Given the description of an element on the screen output the (x, y) to click on. 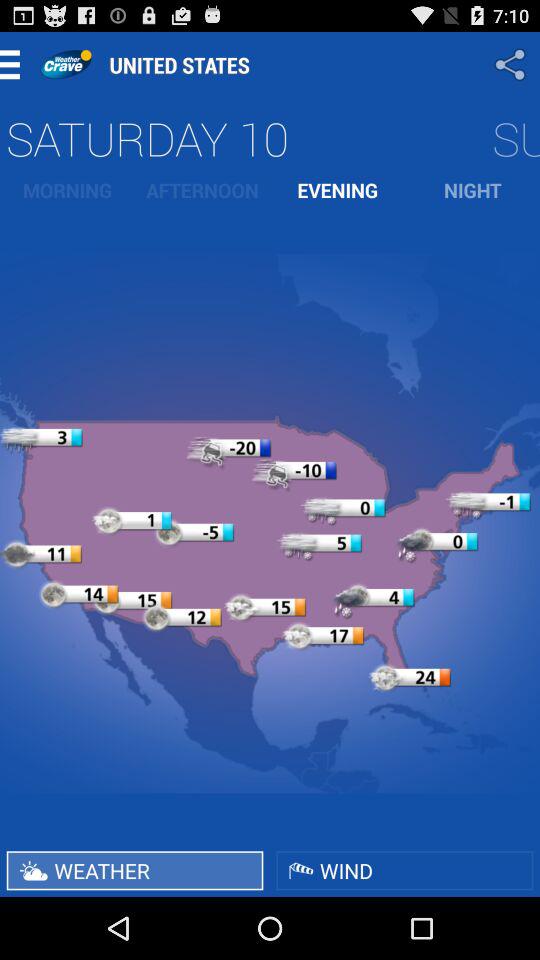
open the app next to united states app (512, 64)
